Given the description of an element on the screen output the (x, y) to click on. 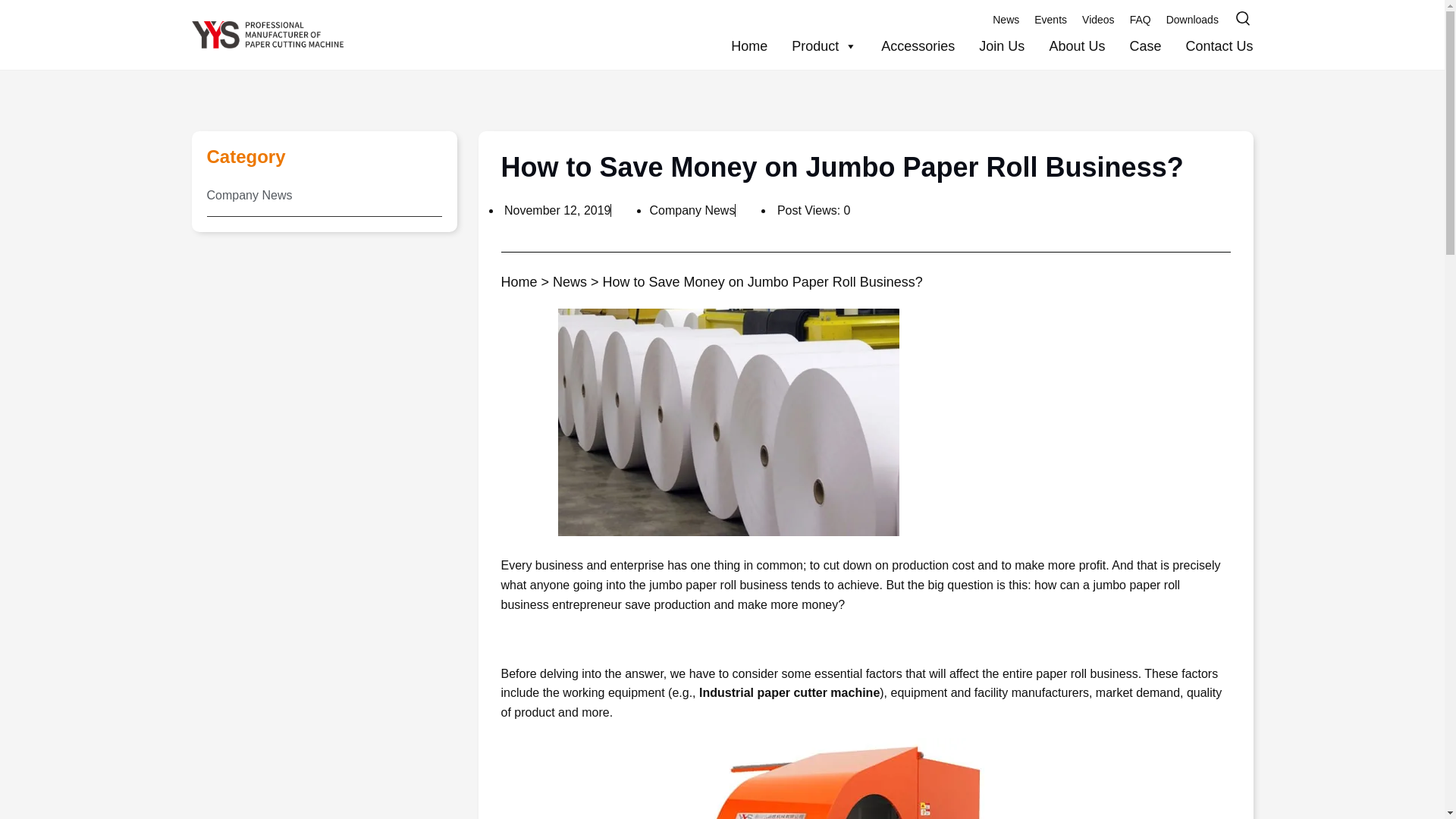
Company News (692, 210)
Company News (323, 196)
Product (812, 24)
Home (736, 20)
Jumbo paper roll cutting machine (866, 778)
Home (518, 281)
Contact Us (1206, 42)
Accessories (906, 40)
Industrial paper cutter machine (788, 692)
About Us (1065, 40)
Case (1132, 42)
Join Us (990, 40)
News (569, 281)
